Given the description of an element on the screen output the (x, y) to click on. 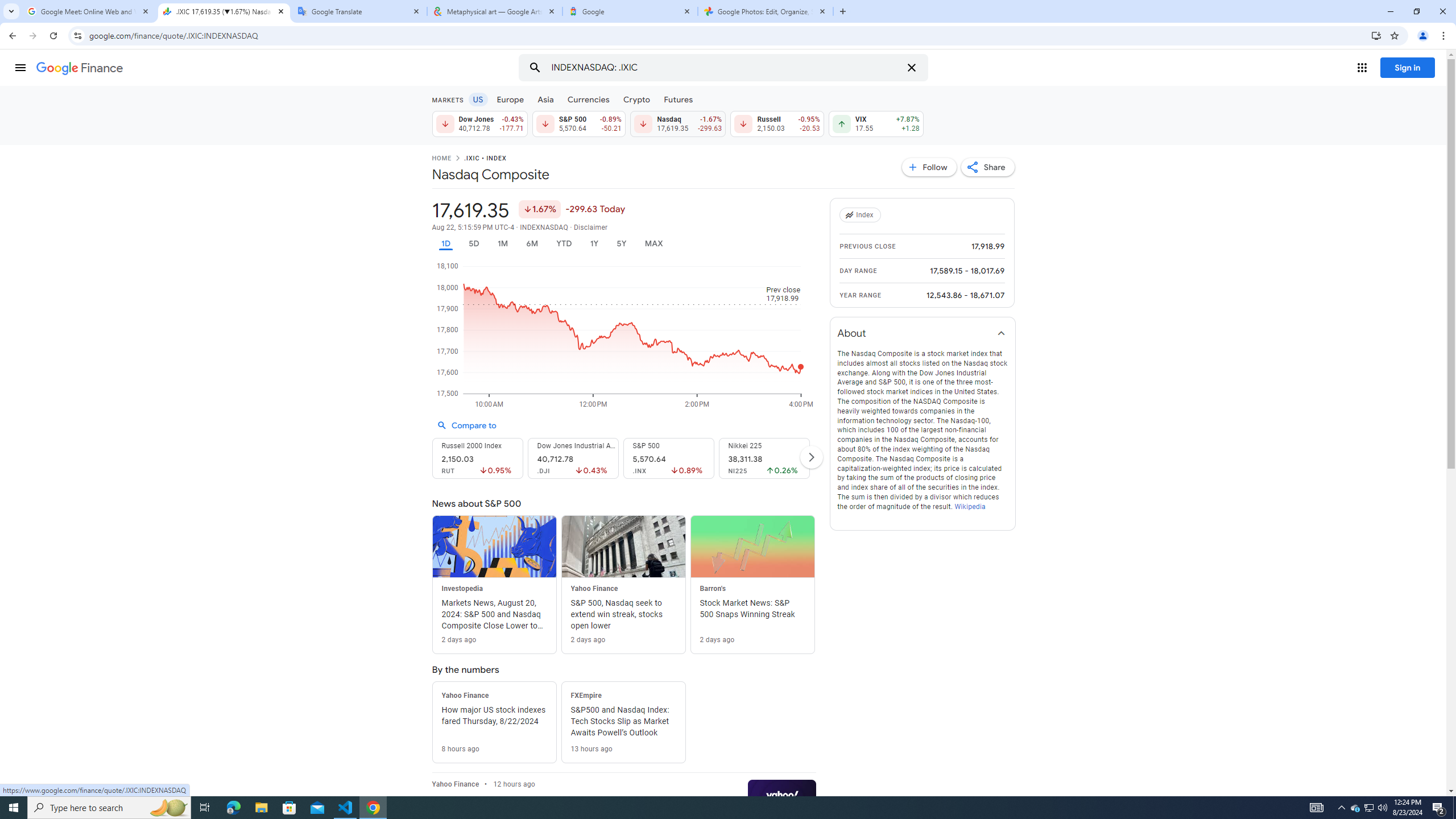
Europe (510, 99)
Search for stocks, ETFs & more (724, 67)
Finance (79, 68)
1M (501, 243)
Asia (545, 99)
Russell 2,150.03 Down by 0.95% -20.53 (777, 123)
US (477, 99)
YTD (563, 243)
MAX (653, 243)
